Given the description of an element on the screen output the (x, y) to click on. 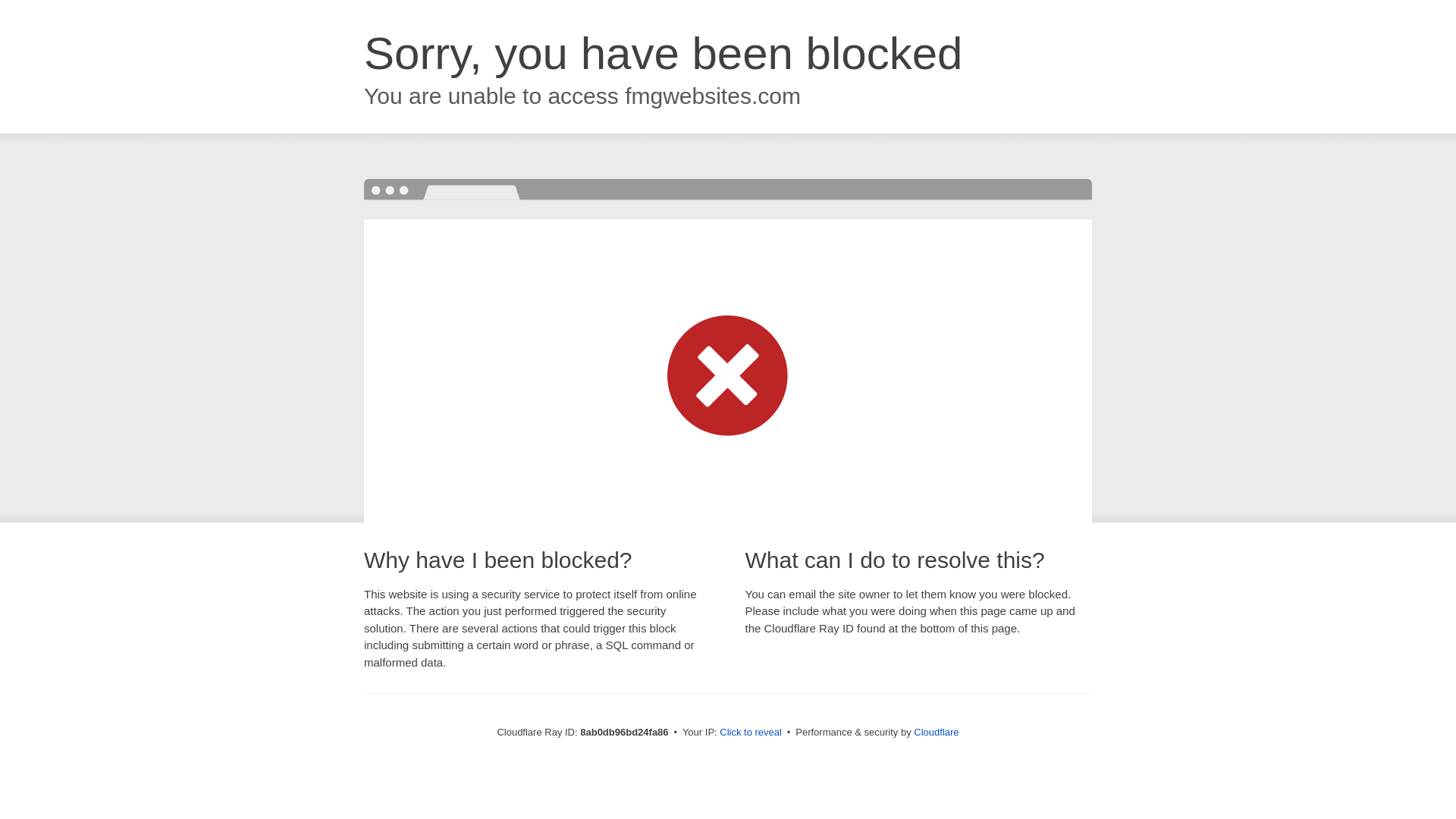
Cloudflare (936, 731)
Click to reveal (750, 732)
